Given the description of an element on the screen output the (x, y) to click on. 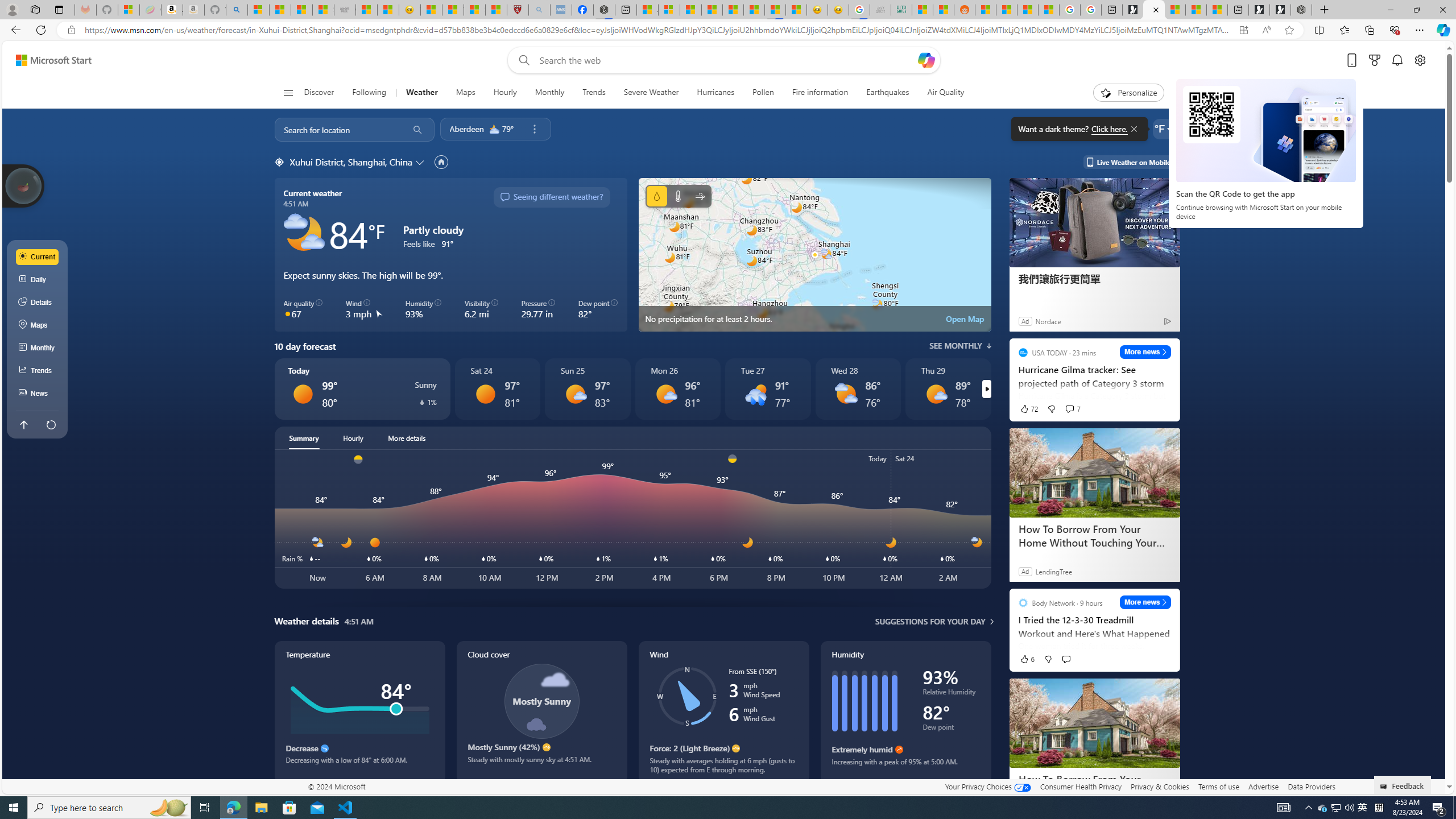
Earthquakes (887, 92)
Relative Humidity (951, 693)
Switch right (986, 389)
Pollen (763, 92)
Class: cloudCoverSvg-DS-ps0R9q (541, 700)
Dew point (951, 728)
